Given the description of an element on the screen output the (x, y) to click on. 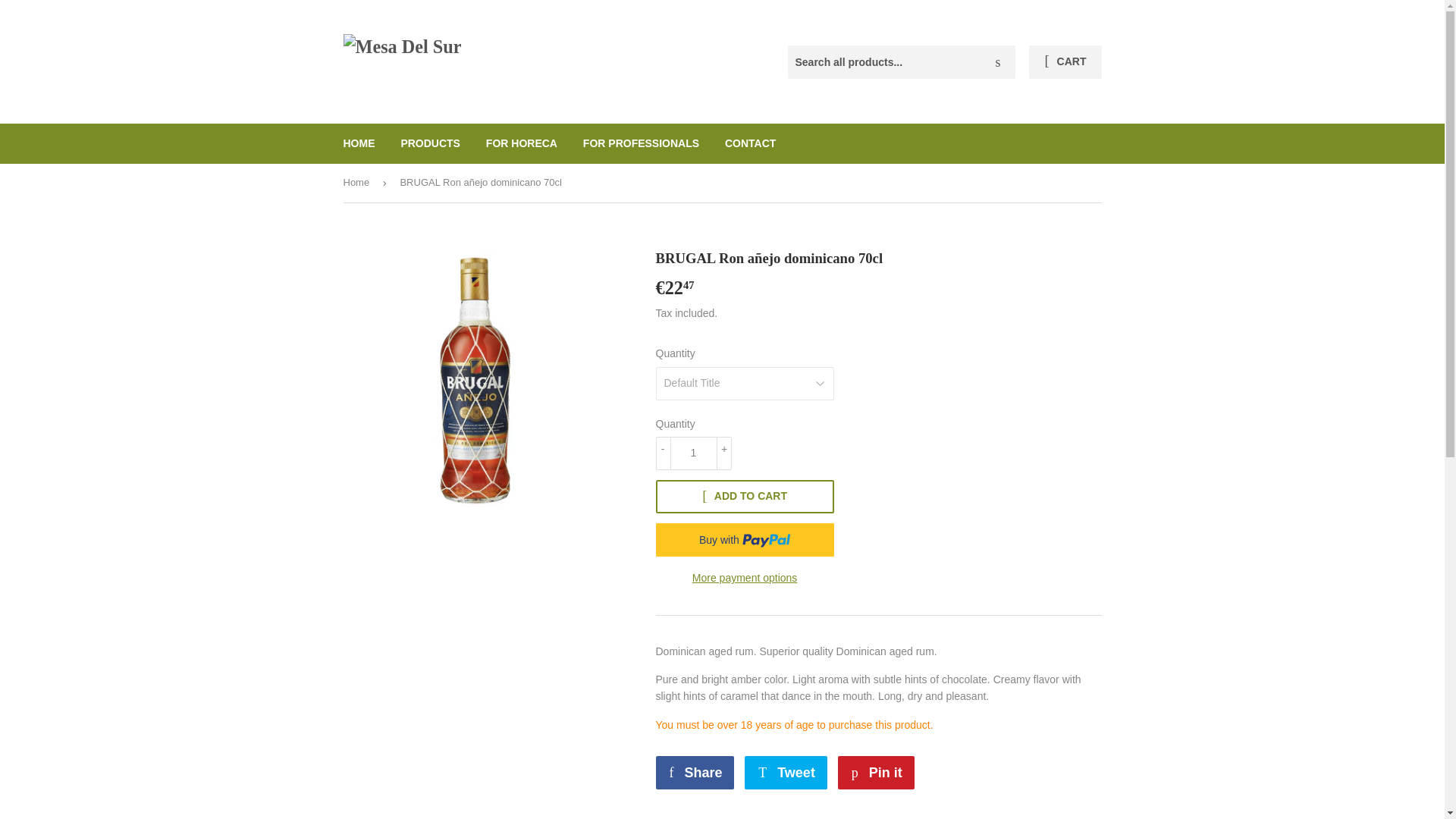
PRODUCTS (429, 142)
Pin on Pinterest (876, 772)
Share on Facebook (876, 772)
Search (694, 772)
FOR PROFESSIONALS (997, 62)
More payment options (641, 142)
ADD TO CART (743, 577)
CART (694, 772)
